Given the description of an element on the screen output the (x, y) to click on. 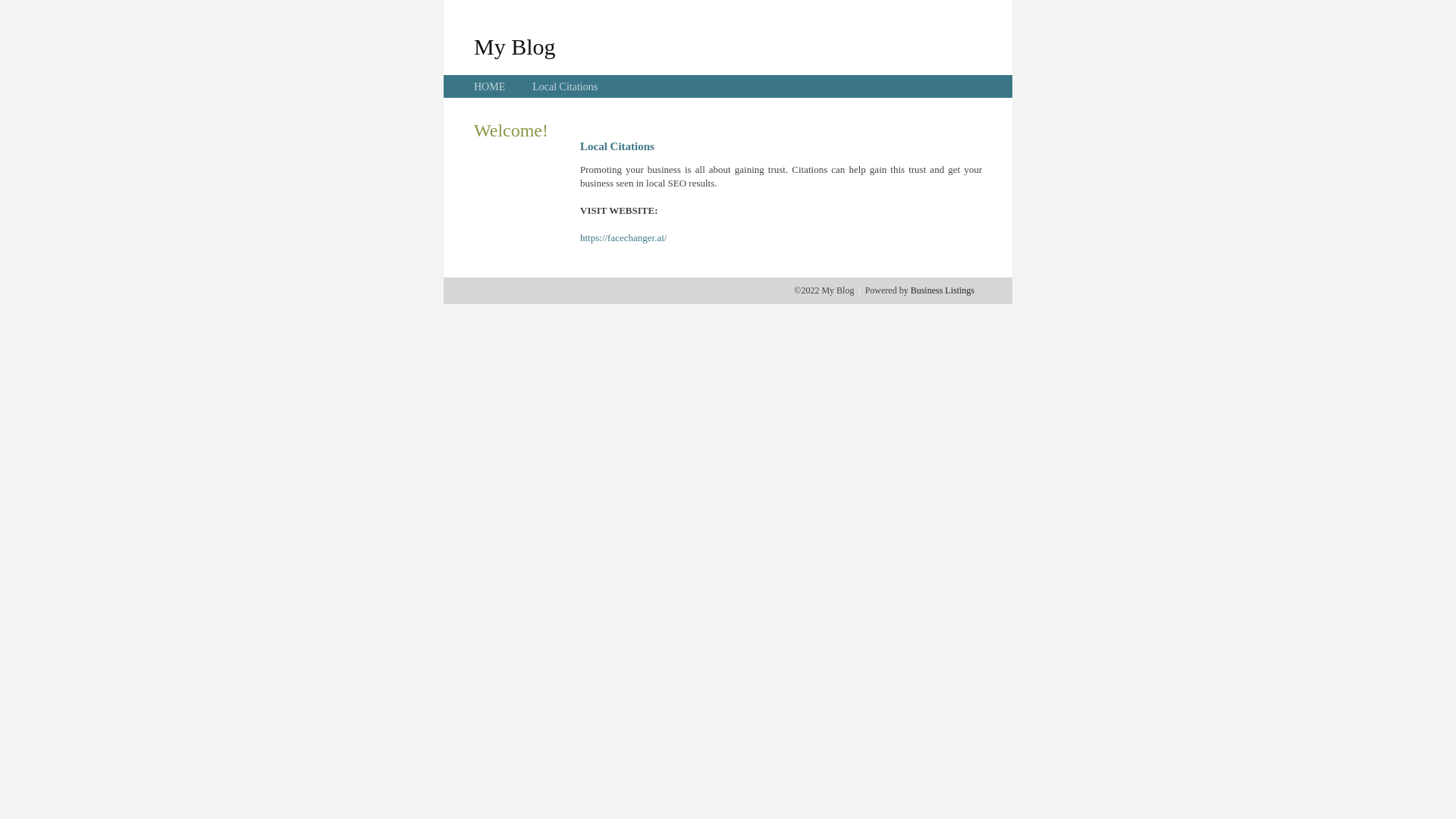
HOME Element type: text (489, 86)
My Blog Element type: text (514, 46)
Business Listings Element type: text (942, 290)
https://facechanger.ai/ Element type: text (623, 237)
Local Citations Element type: text (564, 86)
